Given the description of an element on the screen output the (x, y) to click on. 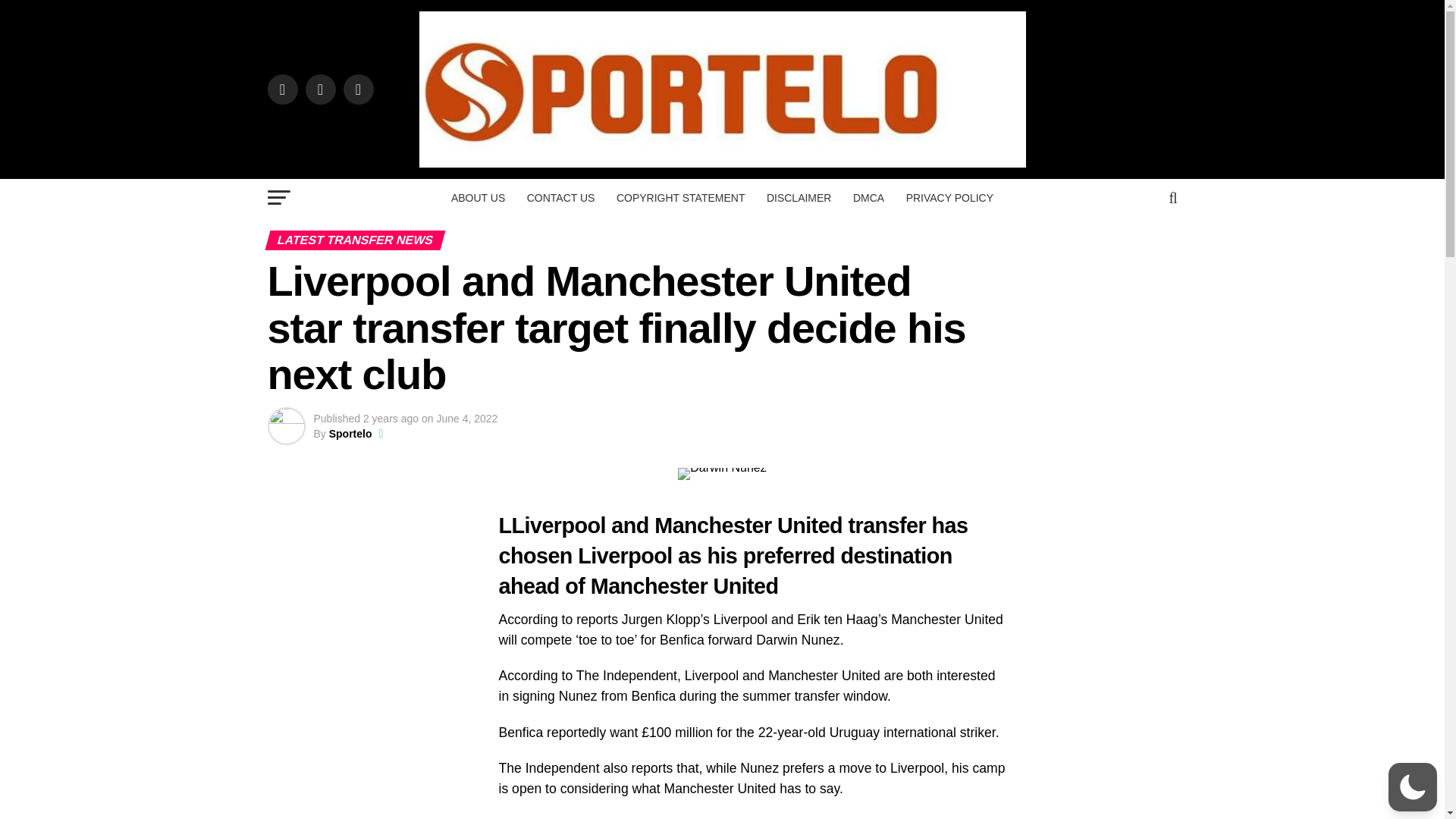
DMCA (868, 198)
ABOUT US (477, 198)
PRIVACY POLICY (949, 198)
DISCLAIMER (799, 198)
Sportelo (350, 433)
COPYRIGHT STATEMENT (680, 198)
CONTACT US (561, 198)
Posts by Sportelo (350, 433)
